Given the description of an element on the screen output the (x, y) to click on. 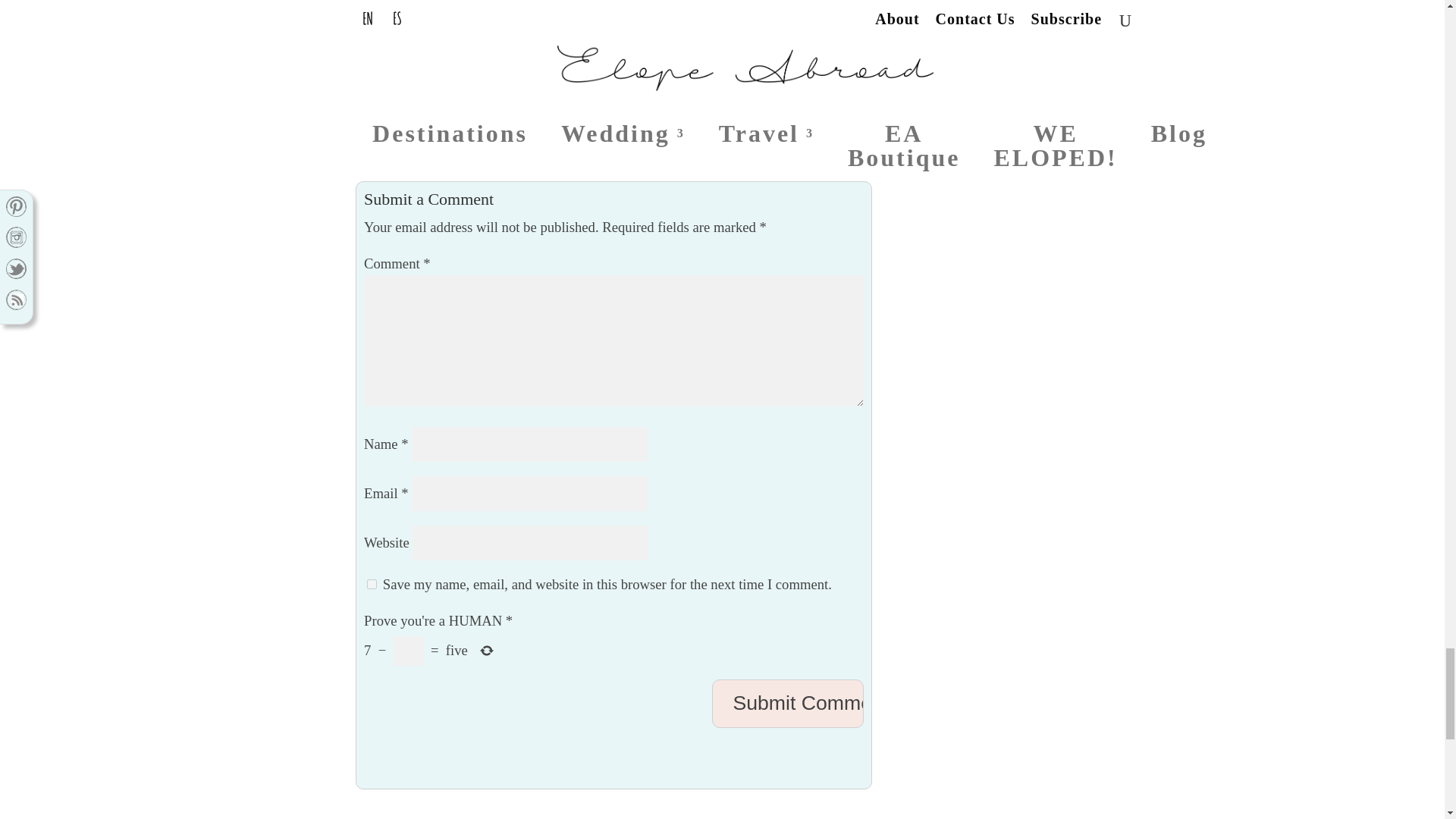
Elope Abroad - San Sebastian Travel Guide (492, 133)
yes (371, 583)
Elope Abroad - My Wedding in San Sebastian (499, 94)
Submit Comment (787, 703)
